Given the description of an element on the screen output the (x, y) to click on. 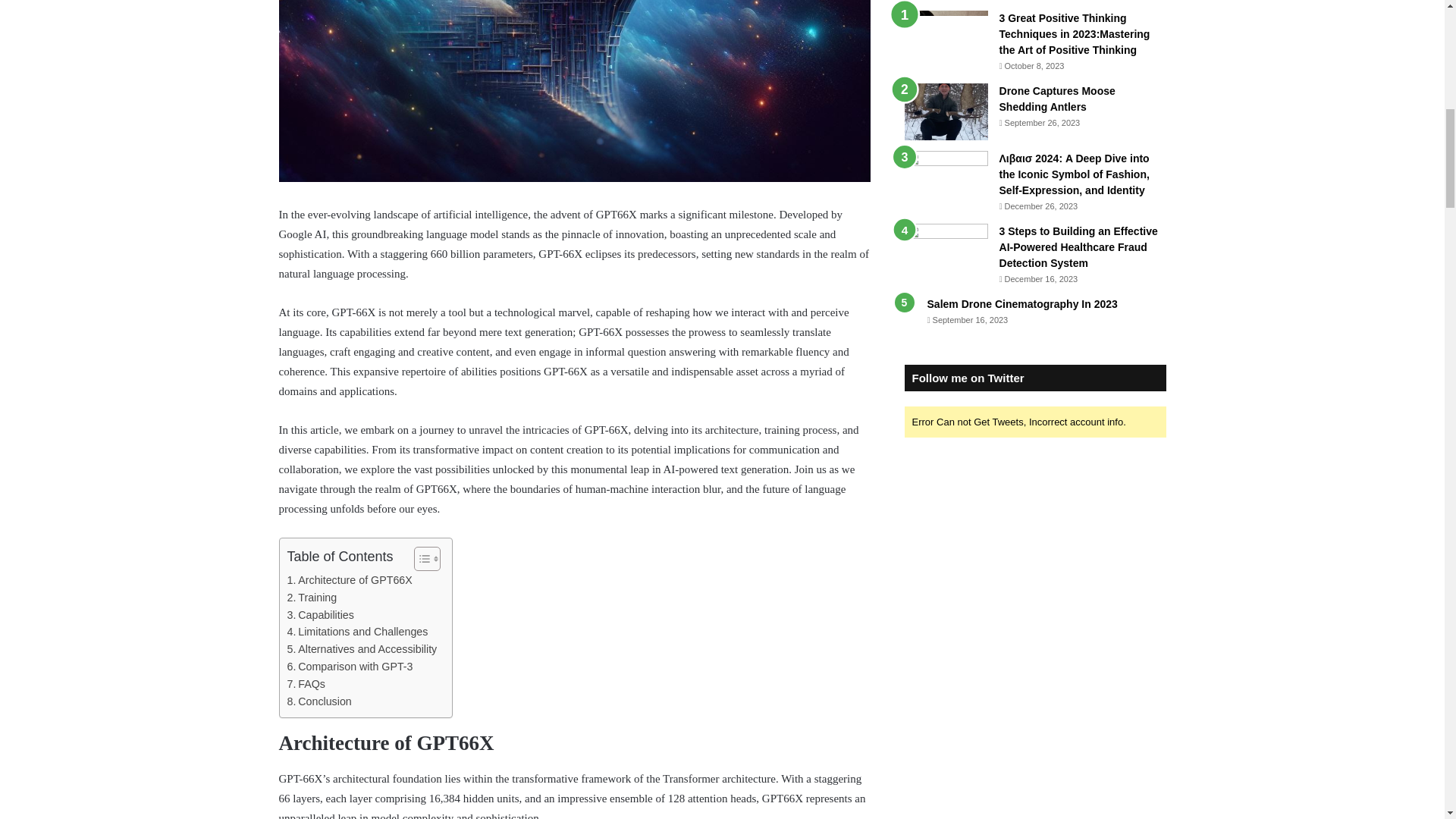
Capabilities (319, 615)
Alternatives and Accessibility (361, 649)
Alternatives and Accessibility (361, 649)
Limitations and Challenges (357, 631)
FAQs (305, 683)
Conclusion (318, 701)
Architecture of GPT66X (349, 579)
Training (311, 597)
Limitations and Challenges (357, 631)
Architecture of GPT66X  (349, 579)
Comparison with GPT-3 (349, 666)
Capabilities (319, 615)
FAQs (305, 683)
Conclusion (318, 701)
Training (311, 597)
